Given the description of an element on the screen output the (x, y) to click on. 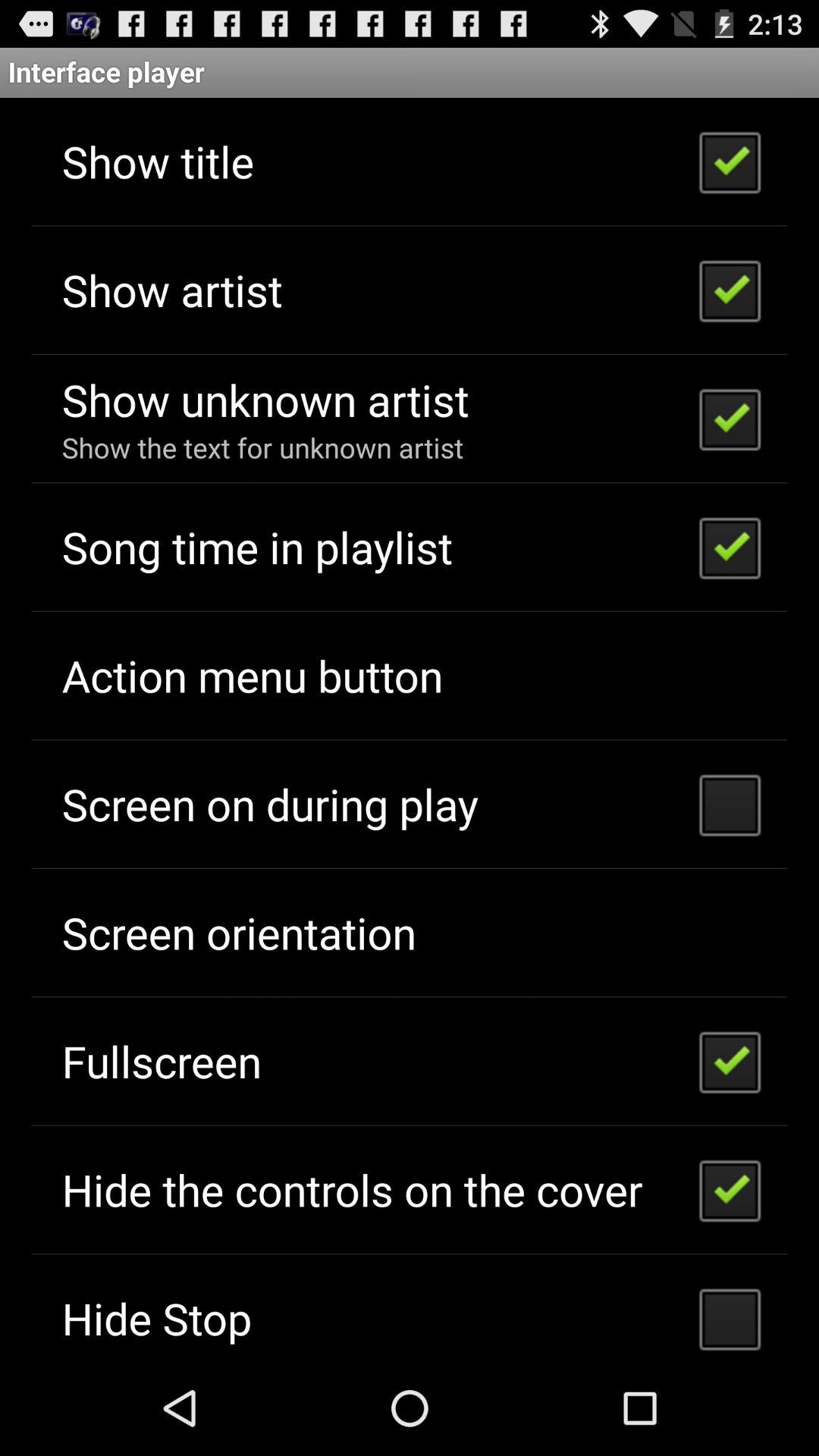
scroll until the fullscreen app (161, 1060)
